Given the description of an element on the screen output the (x, y) to click on. 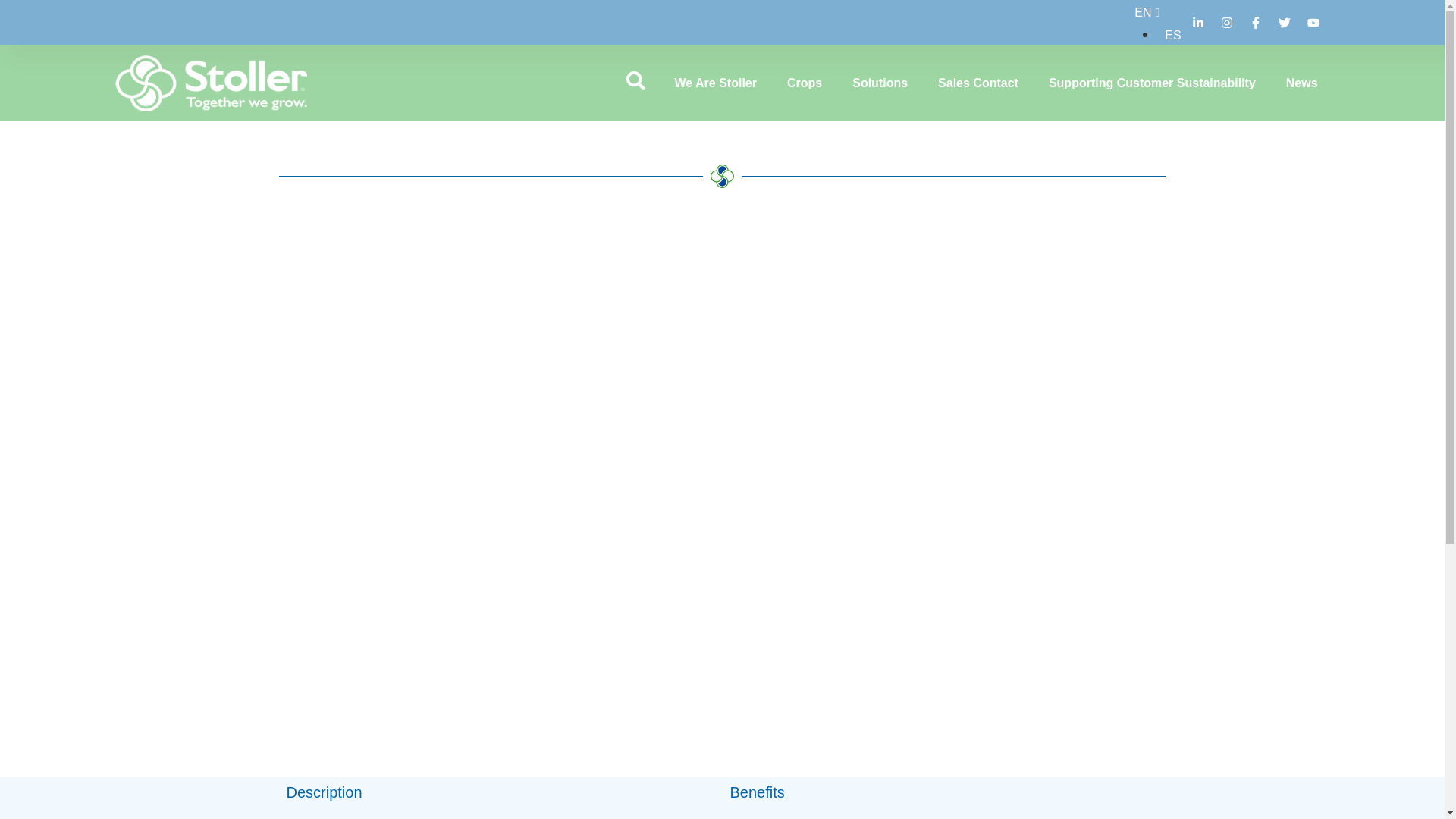
We Are Stoller (714, 83)
Sales Contact (978, 83)
Supporting Customer Sustainability (1152, 83)
EN (1142, 12)
News (1302, 83)
Crops (804, 83)
Solutions (879, 83)
ES (1168, 35)
